Given the description of an element on the screen output the (x, y) to click on. 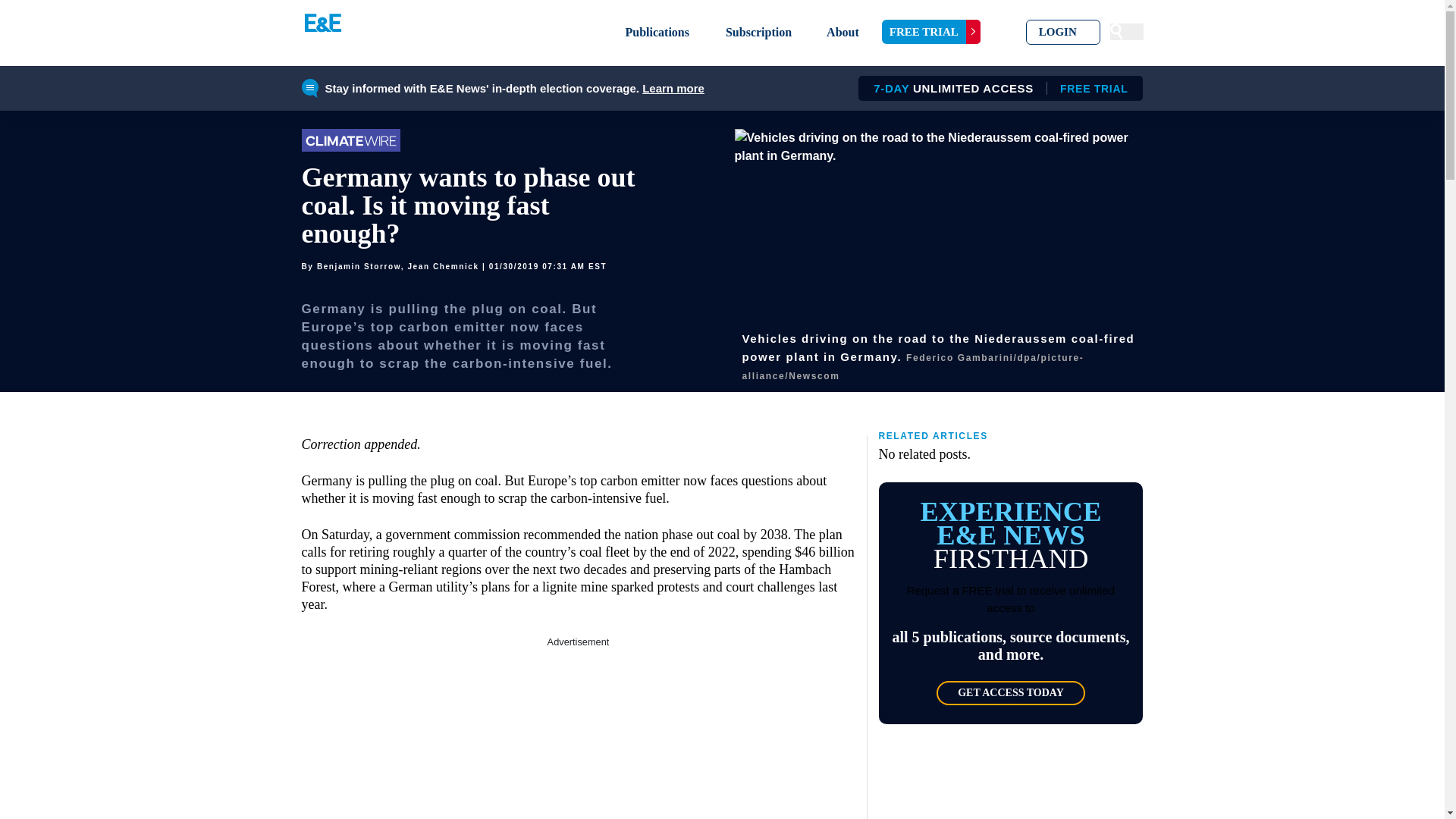
Publications (656, 32)
Learn more (673, 88)
3rd party ad content (577, 734)
GET ACCESS TODAY (1010, 692)
LOGIN (1063, 32)
FREE TRIAL (930, 31)
Subscription (994, 88)
About (758, 32)
Skip to primary navigation (843, 32)
